Given the description of an element on the screen output the (x, y) to click on. 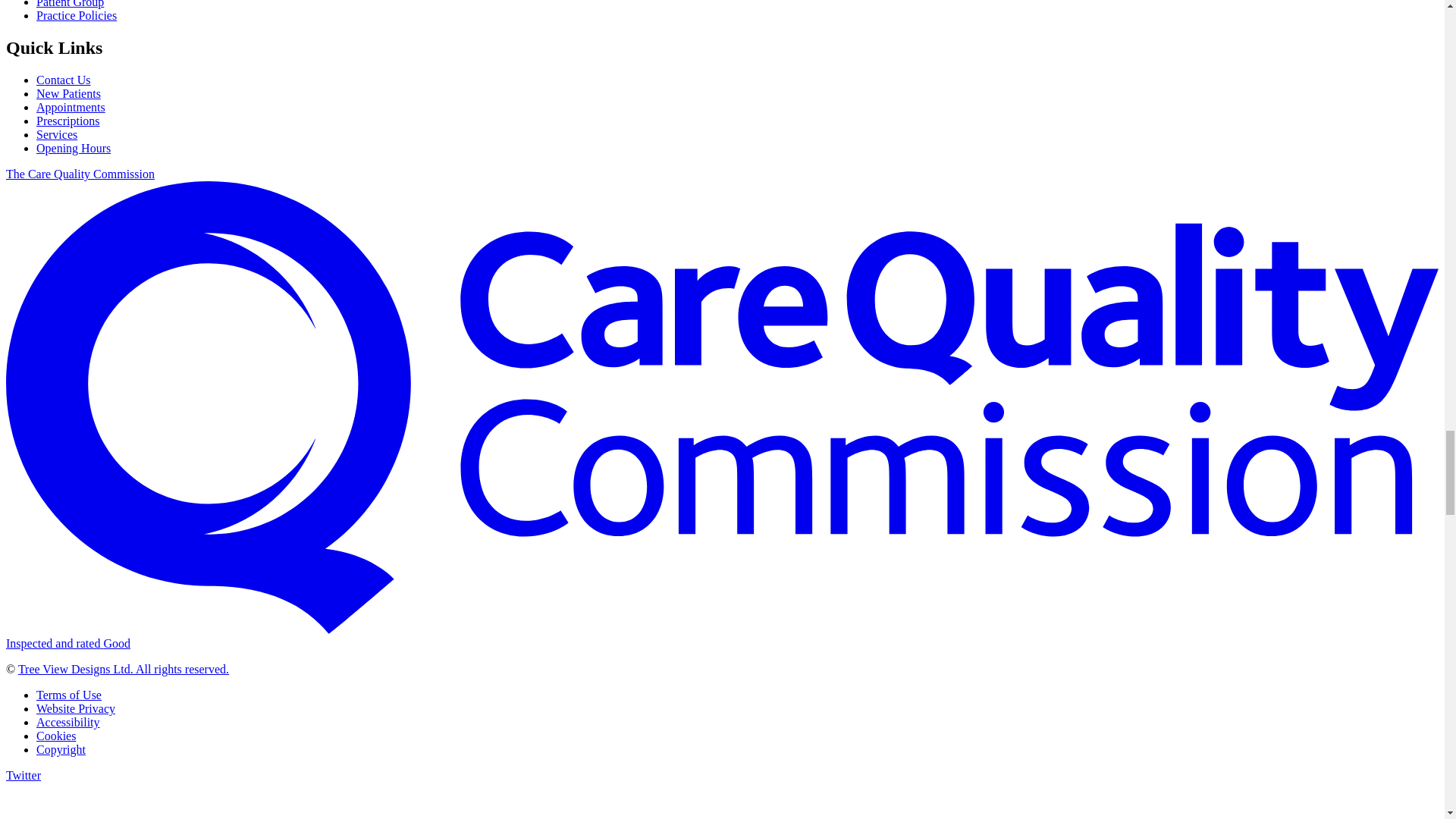
Contact Us (63, 79)
Services (56, 133)
Patient Group (69, 4)
Copyright (60, 748)
New Patients (68, 92)
Website Privacy (75, 707)
Cookies (55, 735)
Accessibility (68, 721)
Appointments (70, 106)
Practice Policies (76, 15)
Prescriptions (68, 120)
Opening Hours (73, 147)
Tree View Designs Ltd. All rights reserved. (122, 668)
Terms of Use (68, 694)
